Given the description of an element on the screen output the (x, y) to click on. 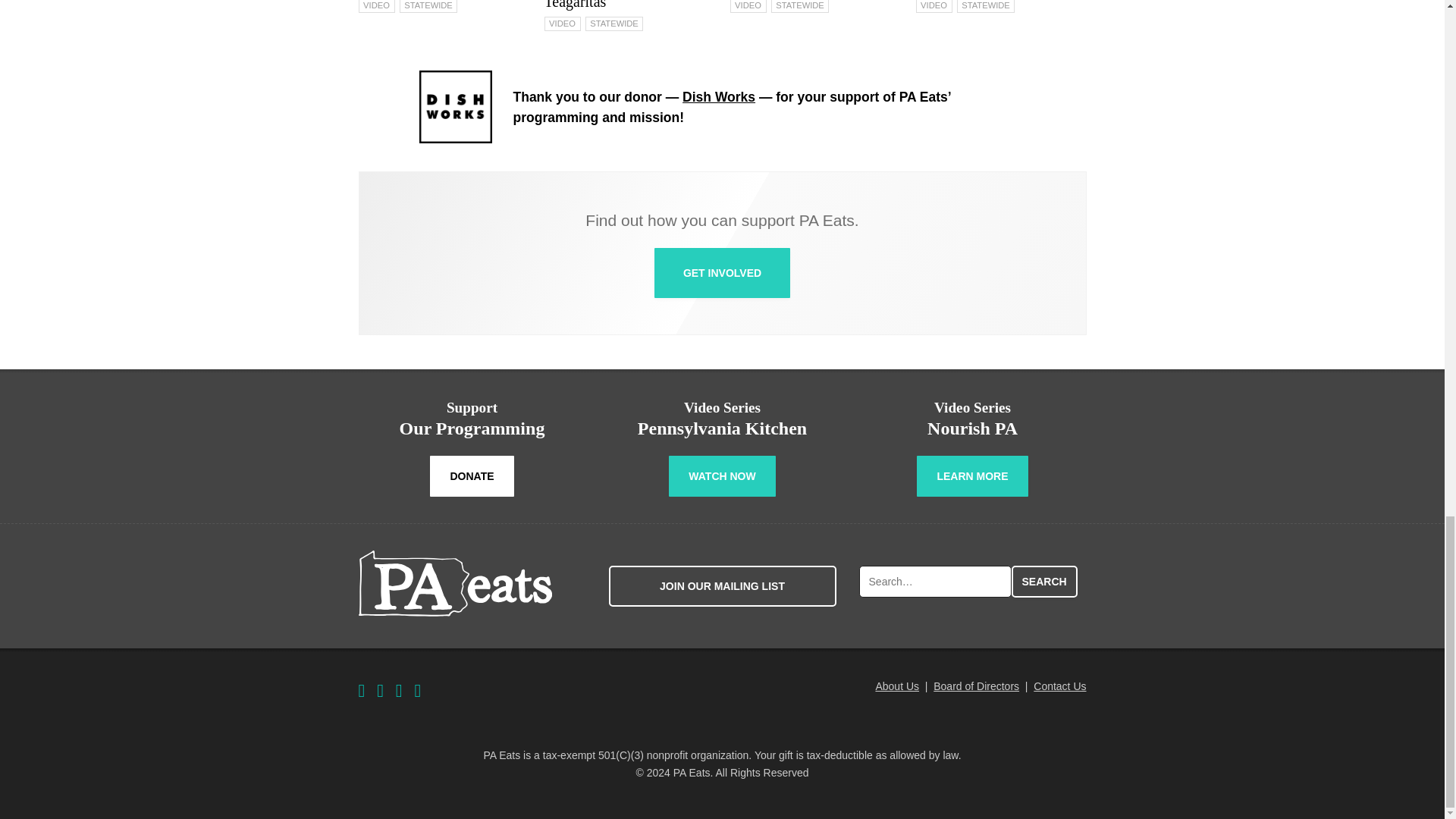
PA Eats Logo (454, 583)
Search (1044, 581)
